Given the description of an element on the screen output the (x, y) to click on. 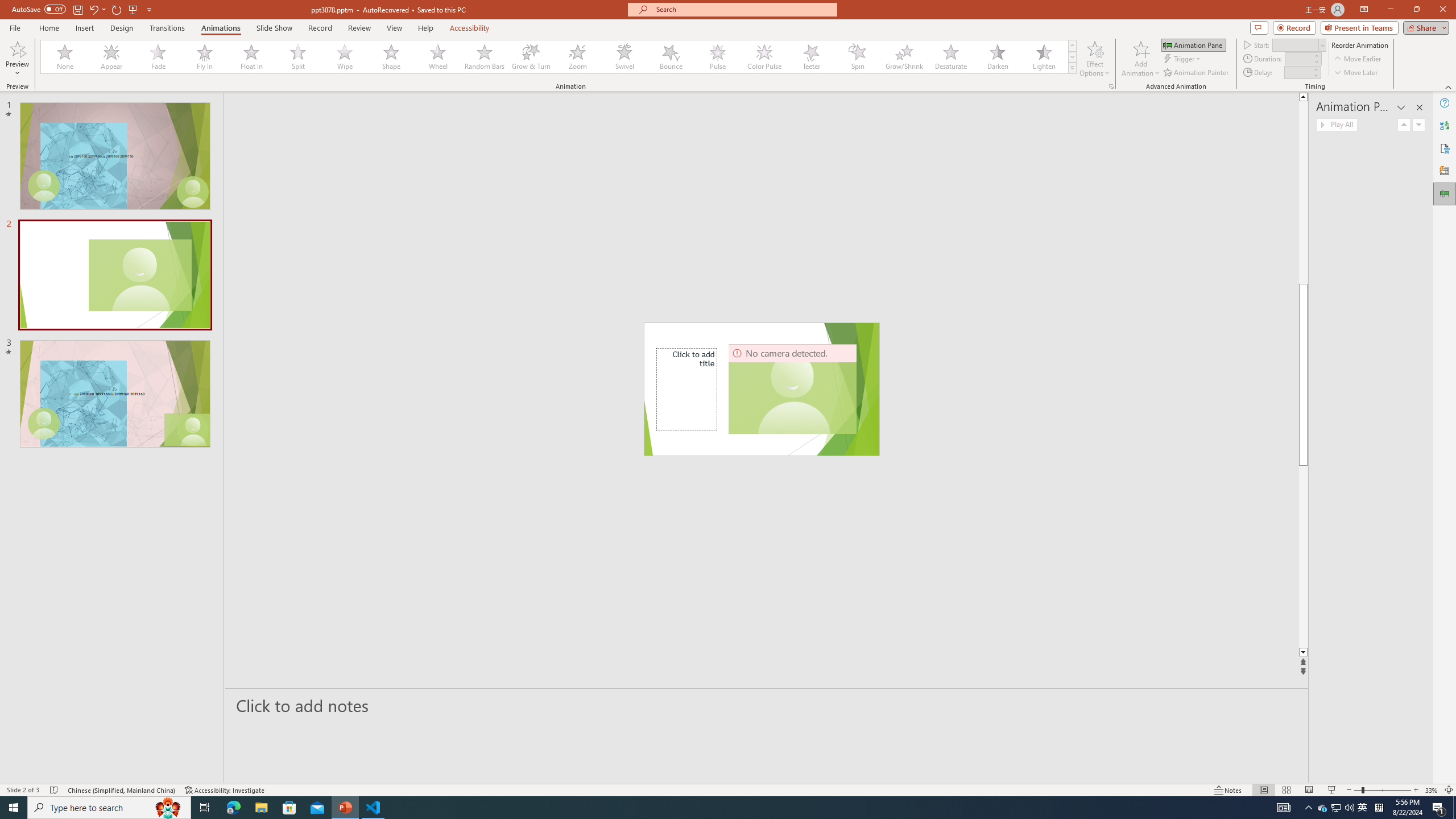
Darken (997, 56)
Animation Painter (1196, 72)
Teeter (810, 56)
Swivel (624, 56)
Move Later (1355, 72)
Grow/Shrink (903, 56)
Random Bars (484, 56)
